Given the description of an element on the screen output the (x, y) to click on. 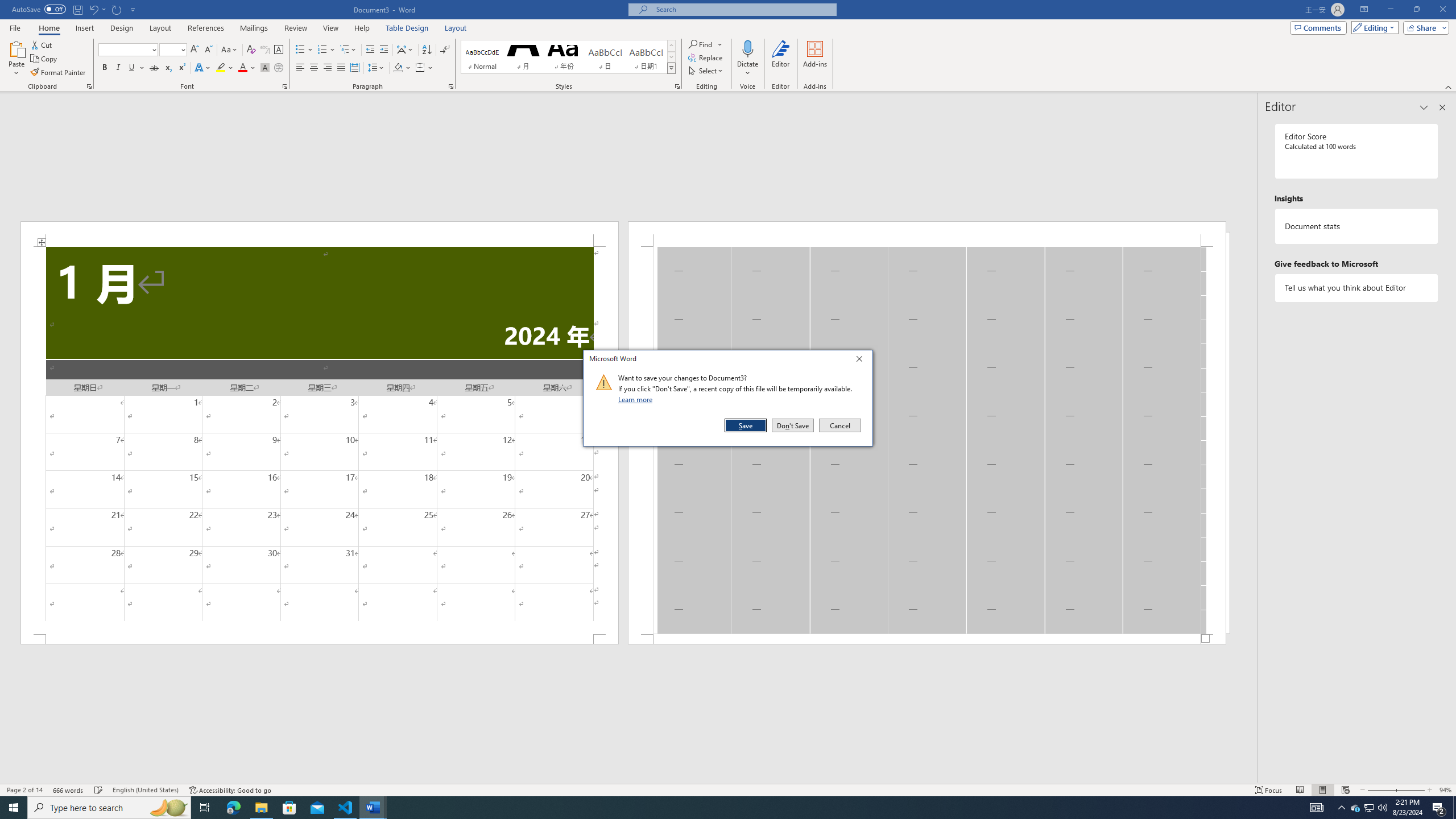
Share (1423, 27)
AutomationID: 4105 (1316, 807)
Web Layout (1344, 790)
Visual Studio Code - 1 running window (345, 807)
Layout (455, 28)
Class: NetUIScrollBar (628, 778)
Paste (16, 58)
Comments (1318, 27)
Editor (780, 58)
Shading (402, 67)
Character Shading (264, 67)
Borders (419, 67)
